Given the description of an element on the screen output the (x, y) to click on. 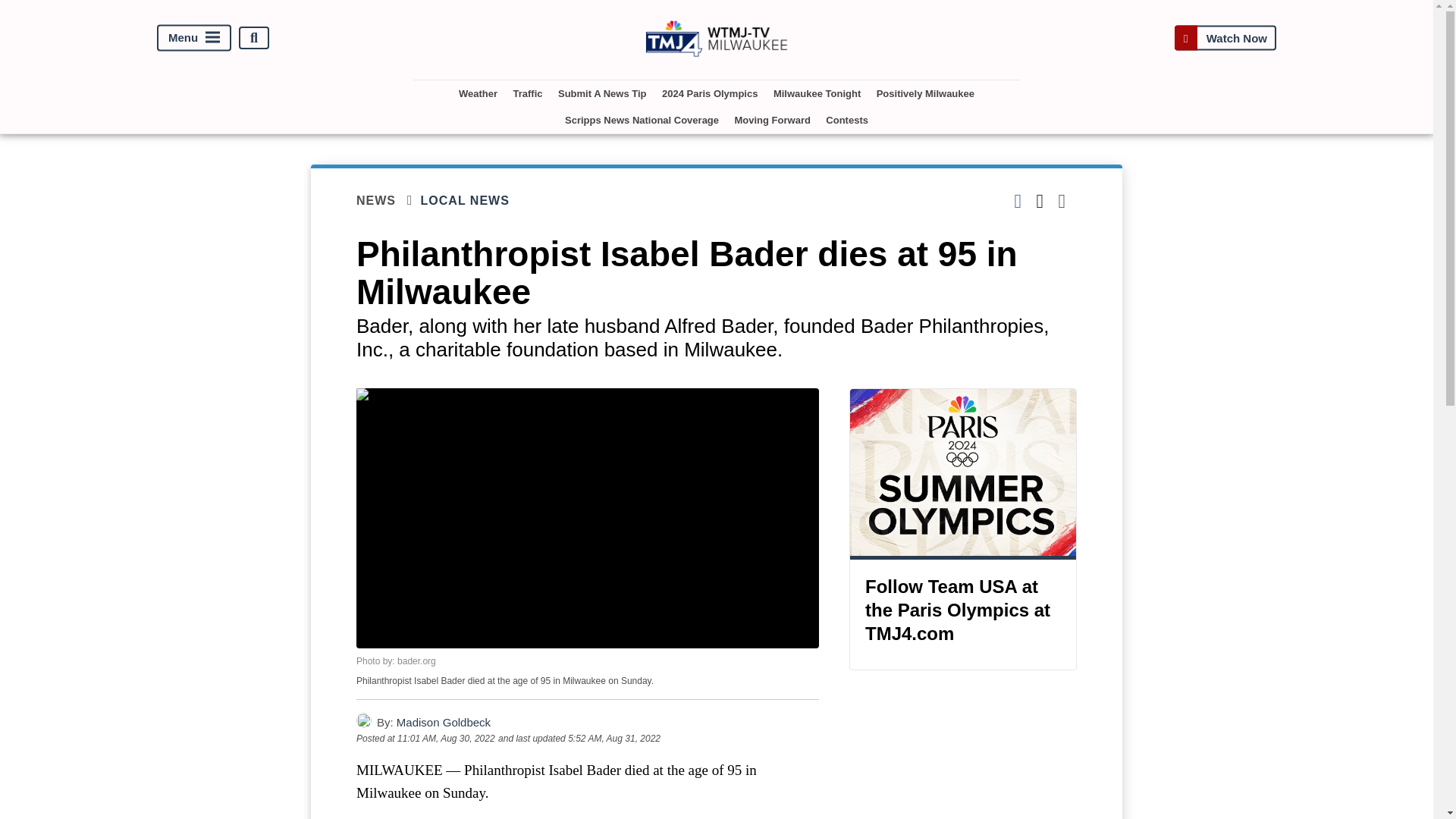
Watch Now (1224, 38)
Menu (194, 38)
